Given the description of an element on the screen output the (x, y) to click on. 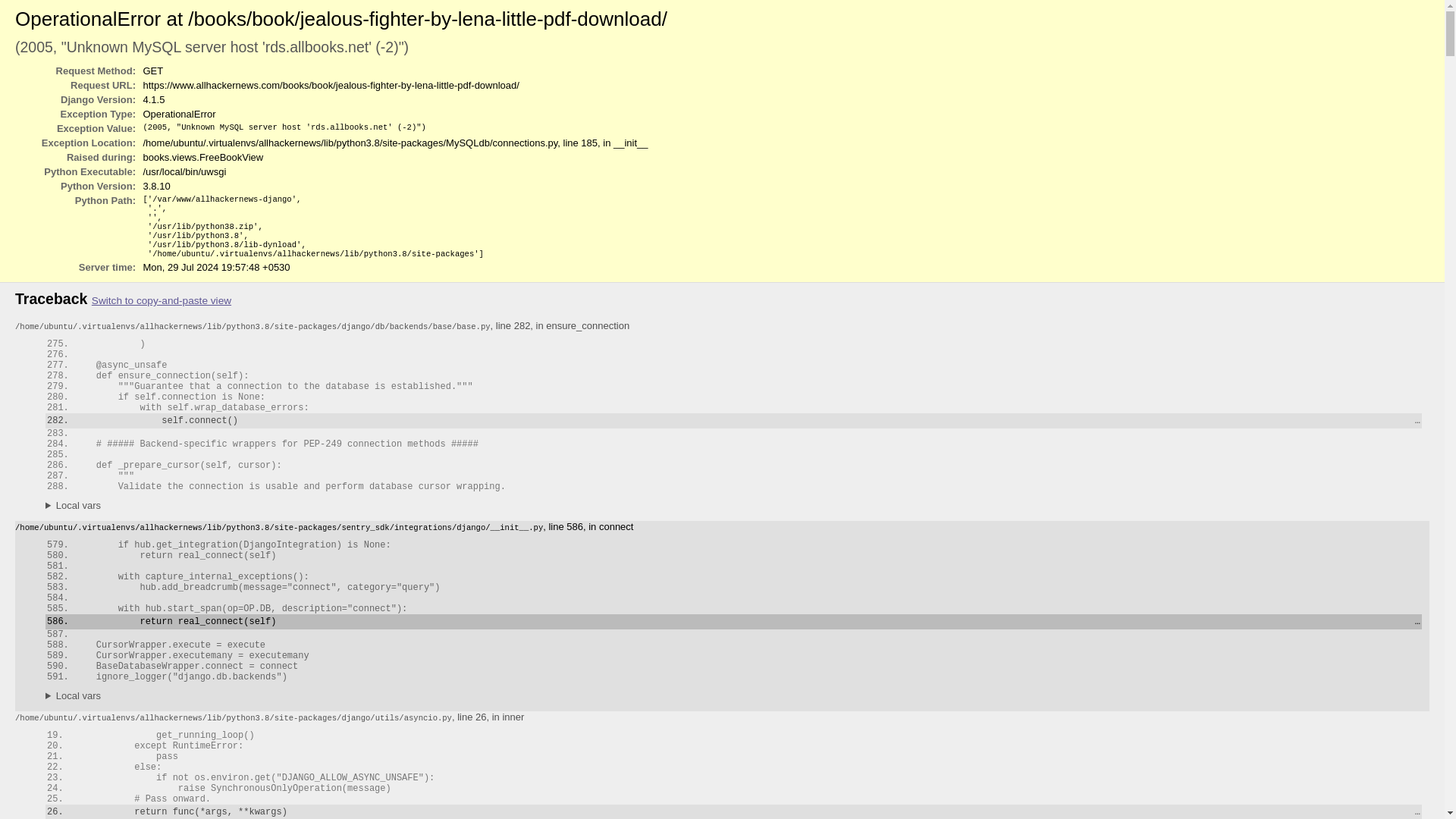
Switch to copy-and-paste view (161, 300)
